Given the description of an element on the screen output the (x, y) to click on. 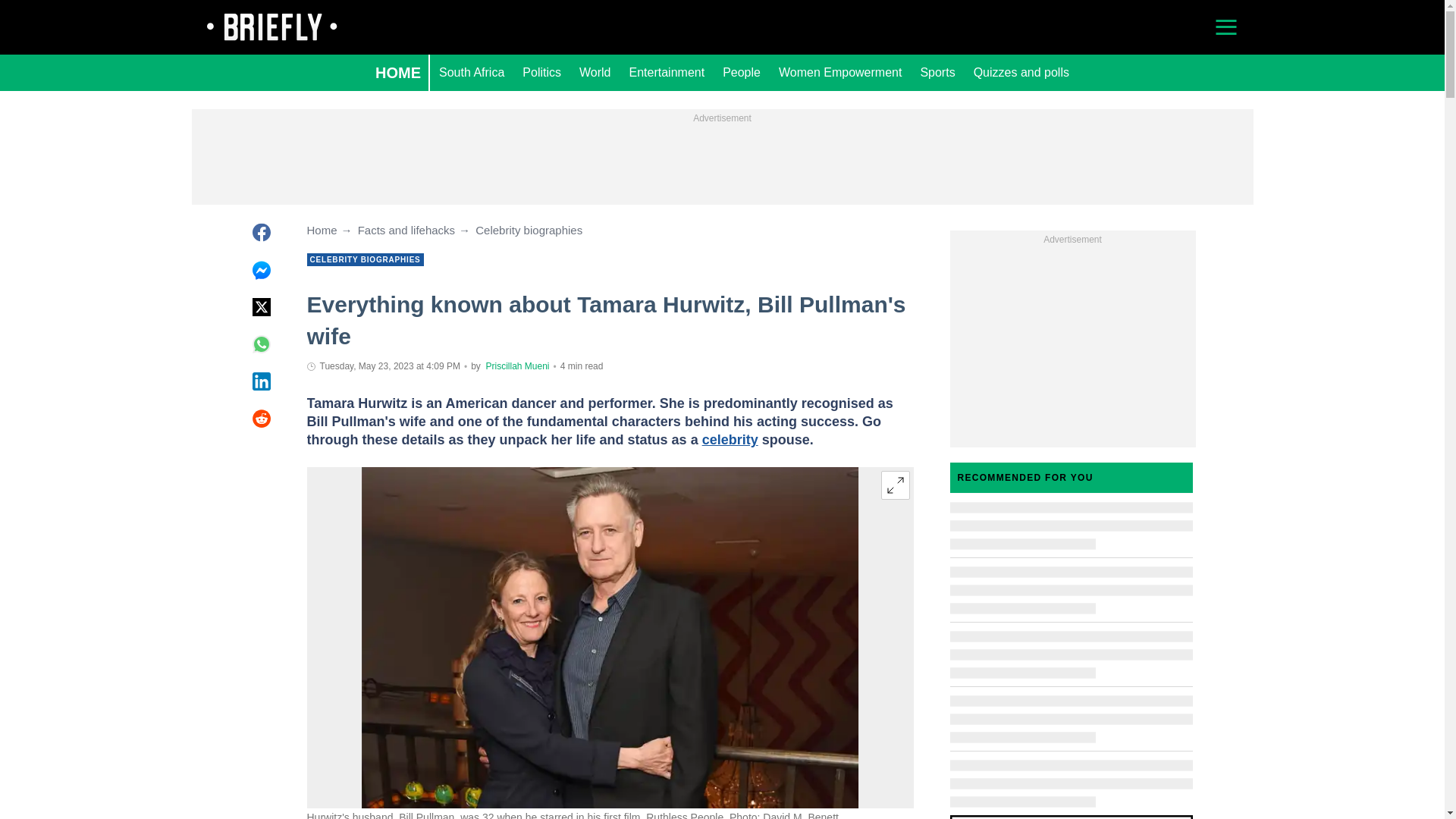
World (595, 72)
HOME (397, 72)
South Africa (471, 72)
Quizzes and polls (1020, 72)
Sports (937, 72)
Author page (516, 366)
People (741, 72)
Politics (541, 72)
Women Empowerment (840, 72)
Expand image (895, 484)
Entertainment (667, 72)
